Given the description of an element on the screen output the (x, y) to click on. 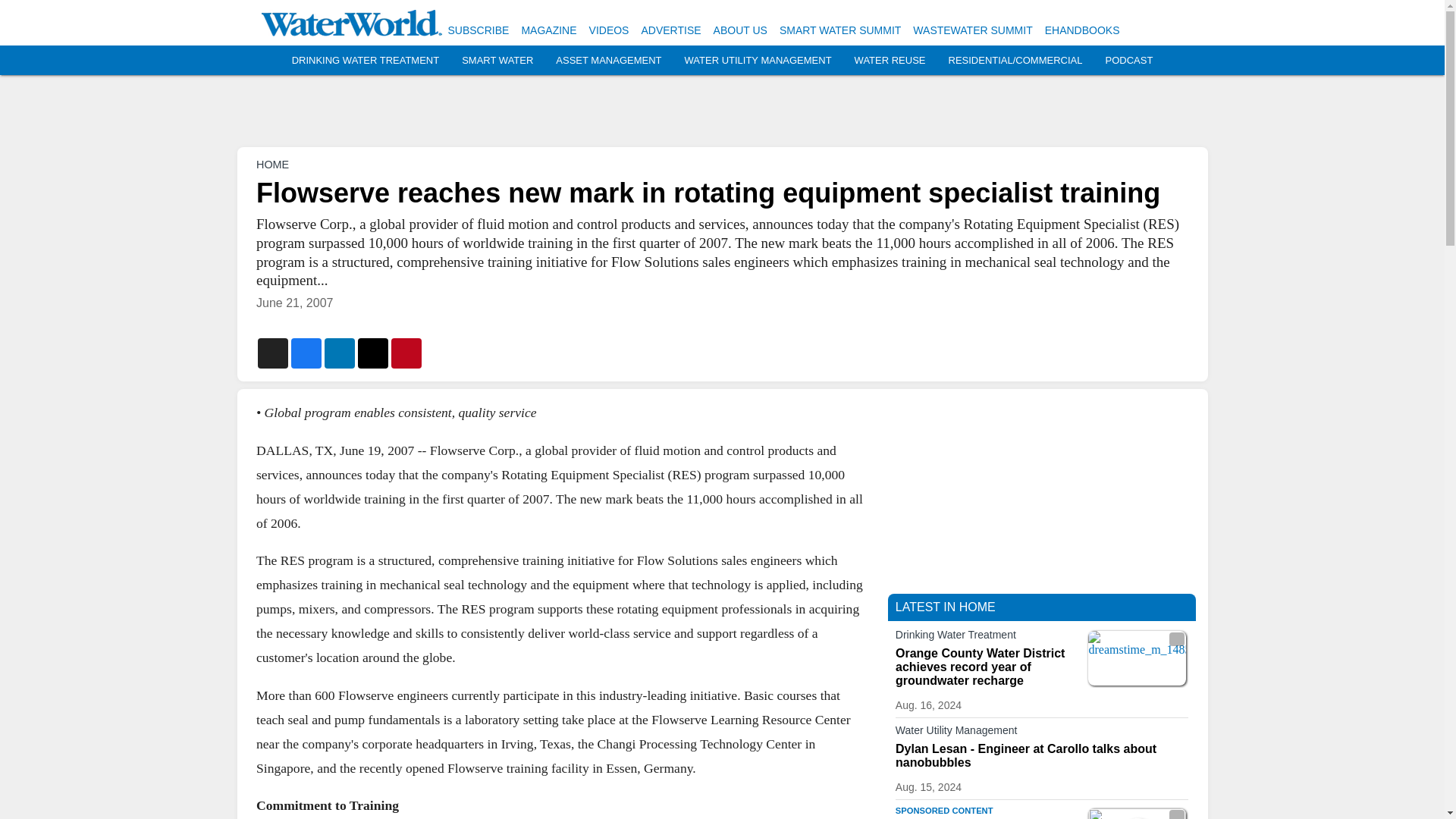
ADVERTISE (670, 30)
SMART WATER SUMMIT (839, 30)
VIDEOS (608, 30)
EHANDBOOKS (1082, 30)
SMART WATER (496, 60)
WATER UTILITY MANAGEMENT (757, 60)
SUBSCRIBE (477, 30)
MAGAZINE (548, 30)
HOME (272, 164)
ABOUT US (740, 30)
